Given the description of an element on the screen output the (x, y) to click on. 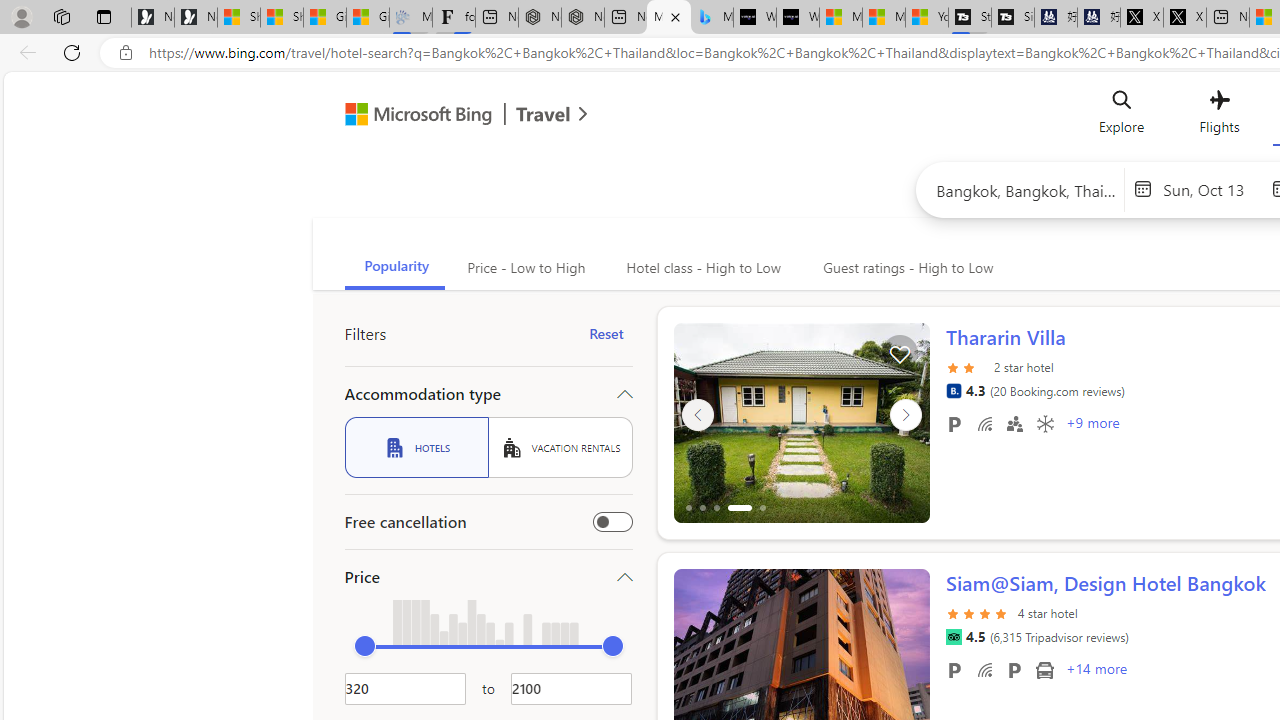
star rating (978, 612)
Microsoft Start Sports (840, 17)
Tab actions menu (104, 16)
Start Date (1212, 188)
AutomationID: TextField872 (405, 688)
Microsoft Bing Travel (445, 116)
Microsoft Start (883, 17)
+14 More Amenities (1095, 671)
Save to collections (898, 352)
Flights (1218, 116)
Guest ratings - High to Low (905, 268)
View site information (125, 53)
Gilma and Hector both pose tropical trouble for Hawaii (367, 17)
